Given the description of an element on the screen output the (x, y) to click on. 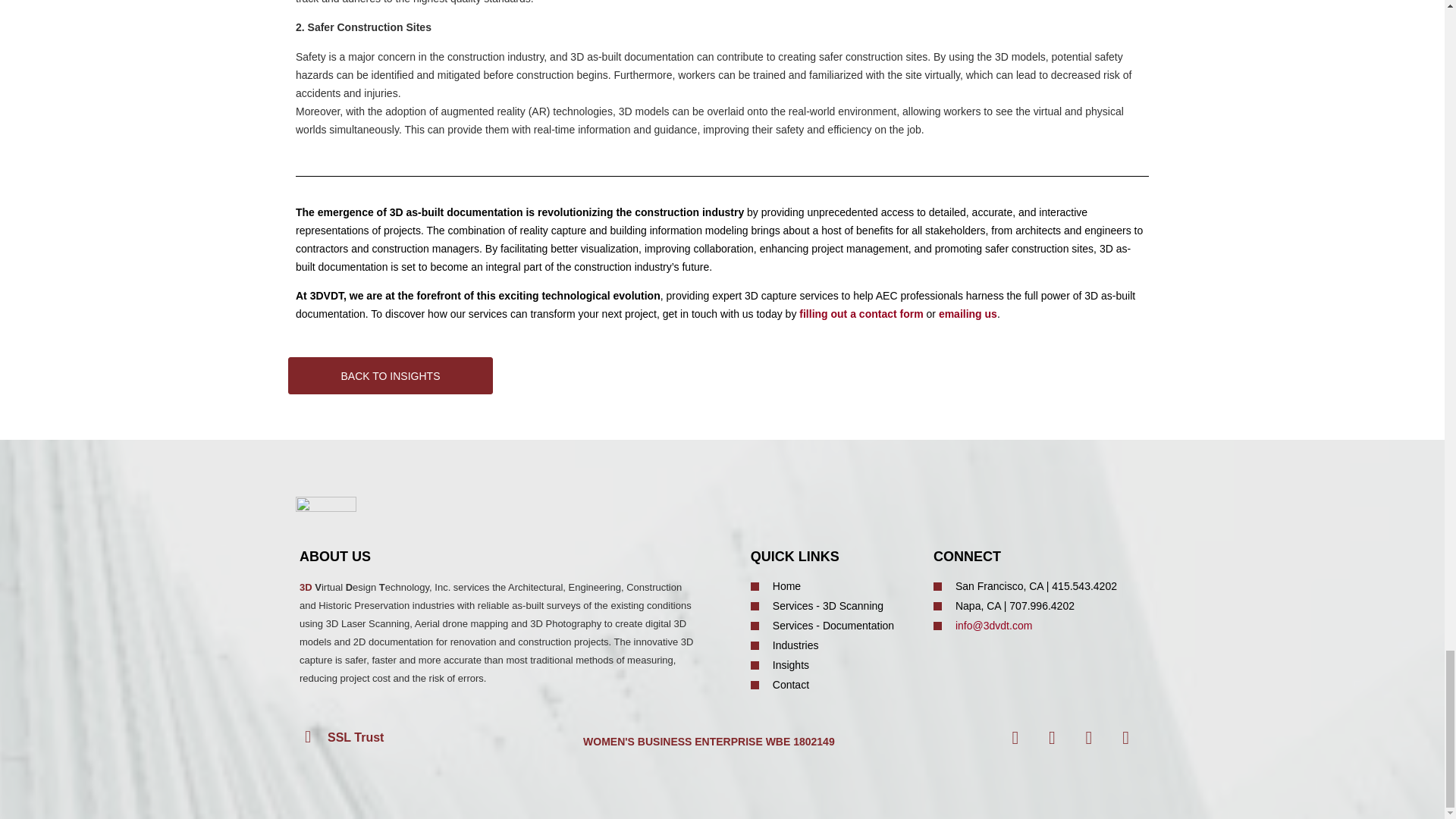
Services - Documentation (834, 625)
Industries (834, 645)
Insights (834, 665)
emailing us (968, 313)
Contact (834, 684)
filling out a contact form (861, 313)
Home (834, 586)
BACK TO INSIGHTS (390, 375)
Services - 3D Scanning (834, 606)
